Given the description of an element on the screen output the (x, y) to click on. 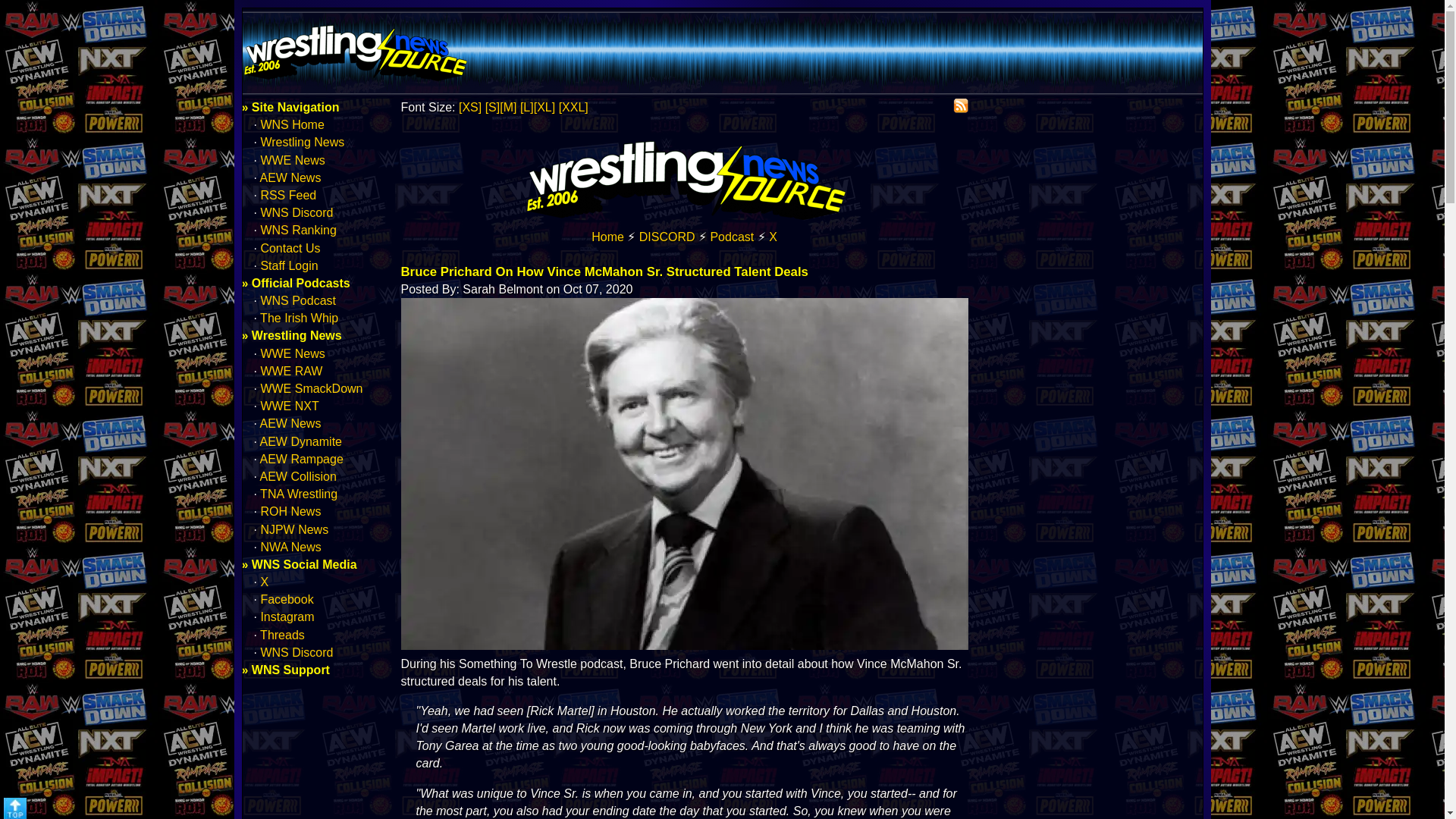
WWE SmackDown (311, 388)
ROH News (290, 511)
NJPW News (294, 529)
WNS Home (684, 218)
Keep up with the RSS feed! (960, 105)
WWE NXT (289, 405)
WWE RAW (290, 370)
WNS on Discord (667, 236)
Contact Us (290, 246)
AEW Dynamite (301, 440)
